Given the description of an element on the screen output the (x, y) to click on. 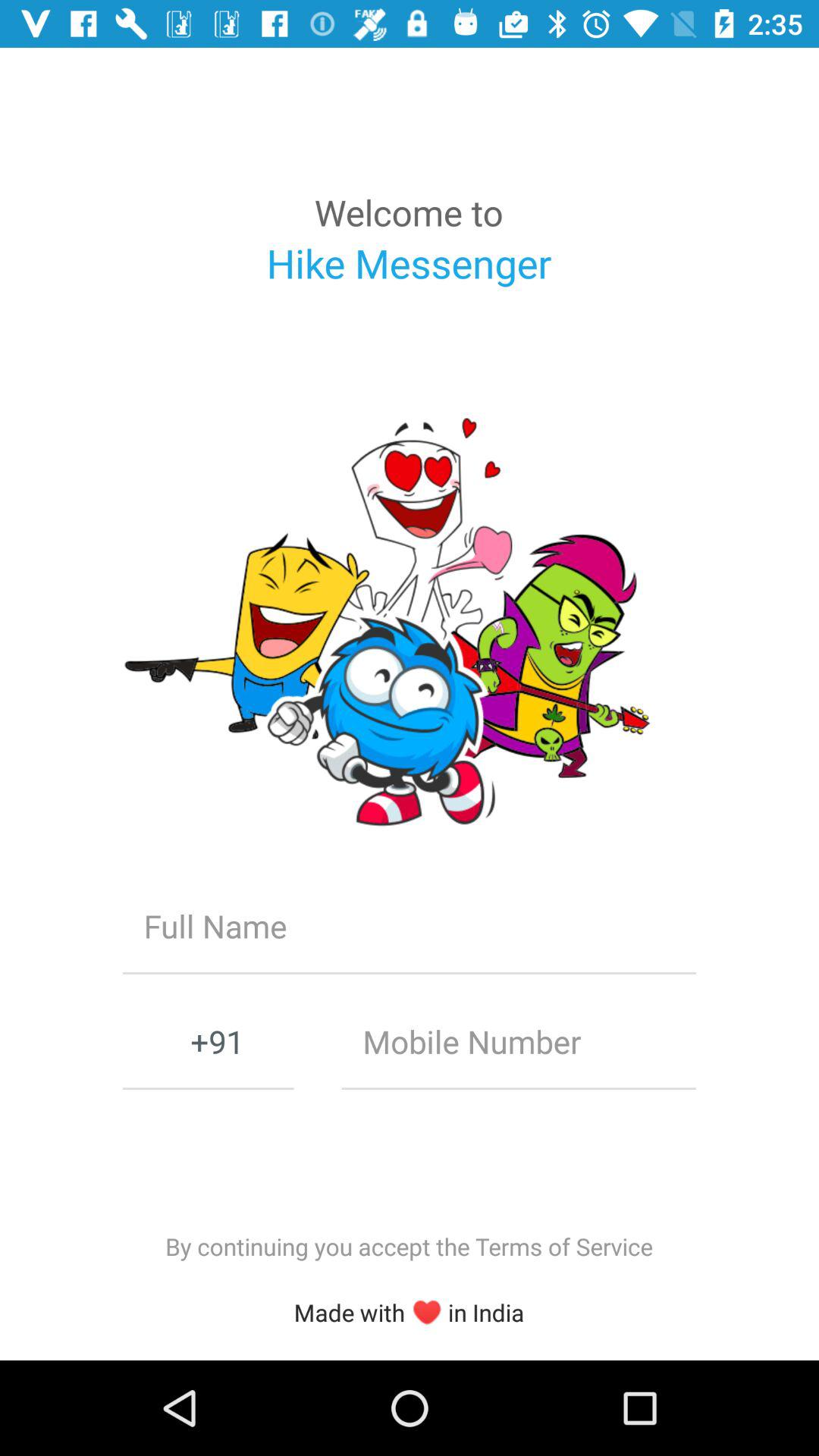
turn off by continuing you (408, 1246)
